Given the description of an element on the screen output the (x, y) to click on. 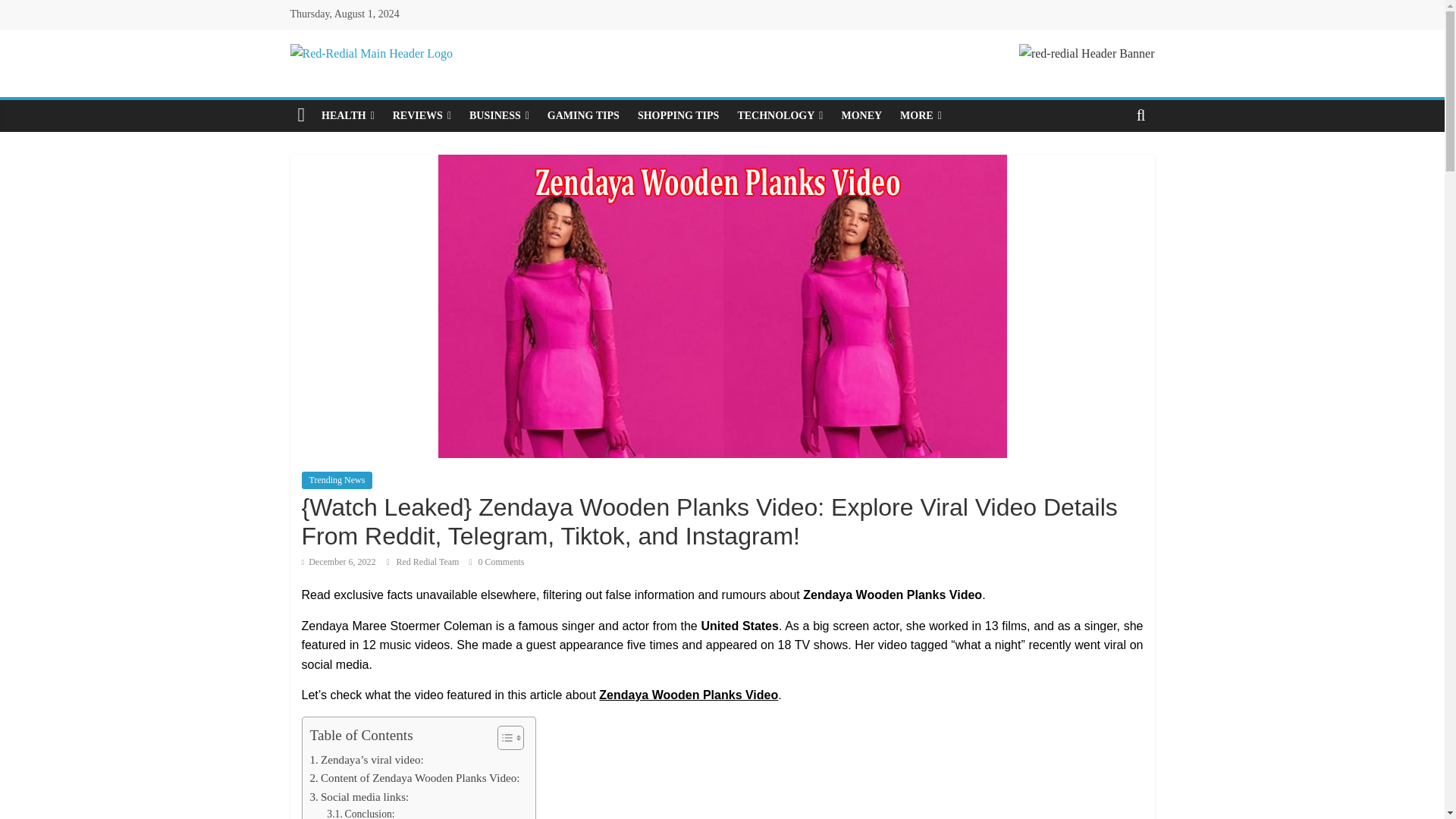
GAMING TIPS (583, 115)
December 6, 2022 (338, 561)
Trending News (336, 479)
Red Redial Team (428, 561)
SHOPPING TIPS (678, 115)
REVIEWS (422, 115)
TECHNOLOGY (779, 115)
Social media links: (358, 796)
Conclusion: (360, 812)
HEALTH (348, 115)
MORE (920, 115)
Red Redial Team (428, 561)
Content of Zendaya Wooden Planks Video: (413, 778)
10:28 am (338, 561)
BUSINESS (499, 115)
